Given the description of an element on the screen output the (x, y) to click on. 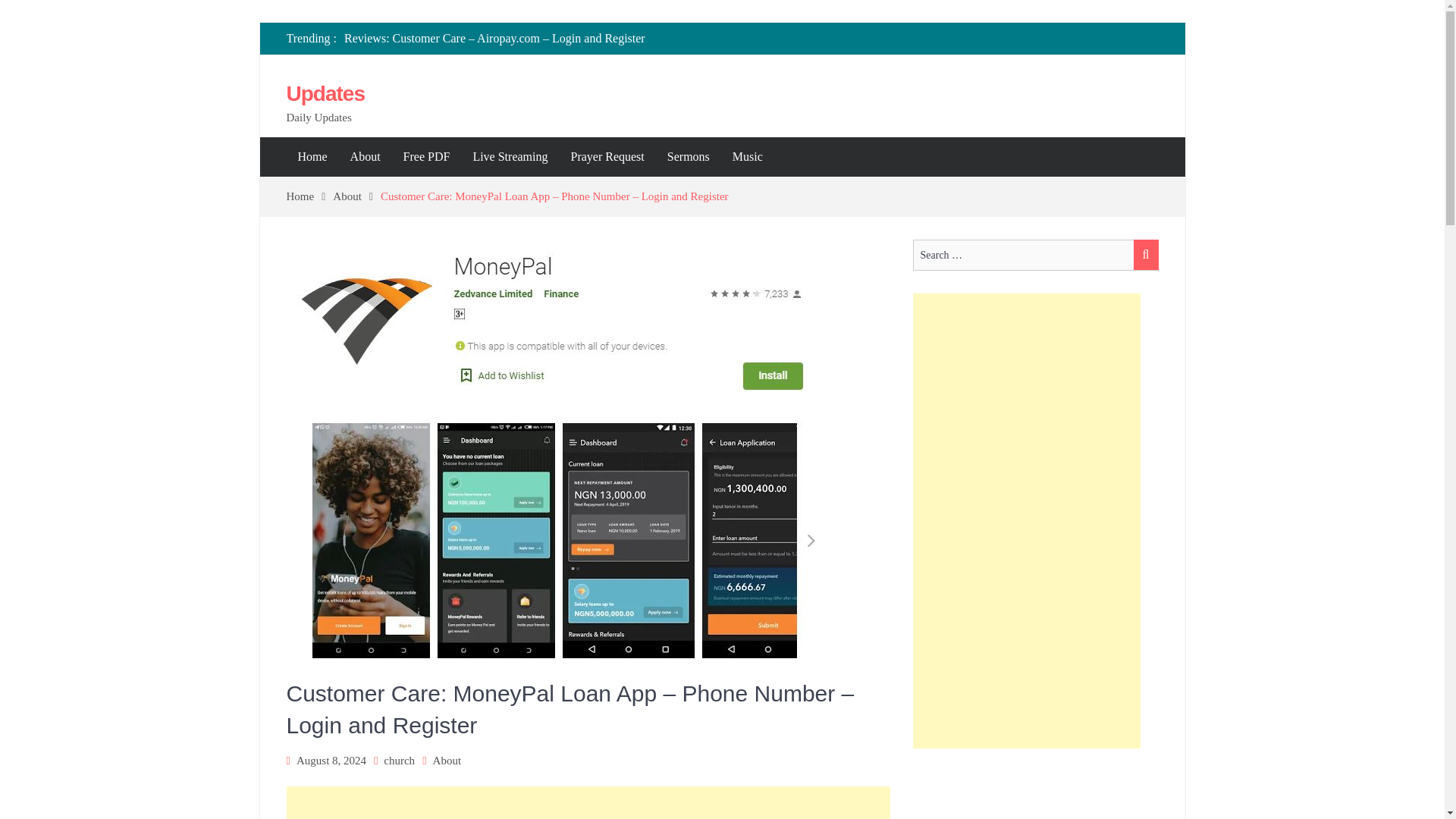
Updates (325, 93)
Live Streaming (510, 156)
About (365, 156)
About (356, 196)
August 8, 2024 (331, 760)
Sermons (688, 156)
church (399, 760)
Prayer Request (607, 156)
About (446, 760)
Home (312, 156)
